Given the description of an element on the screen output the (x, y) to click on. 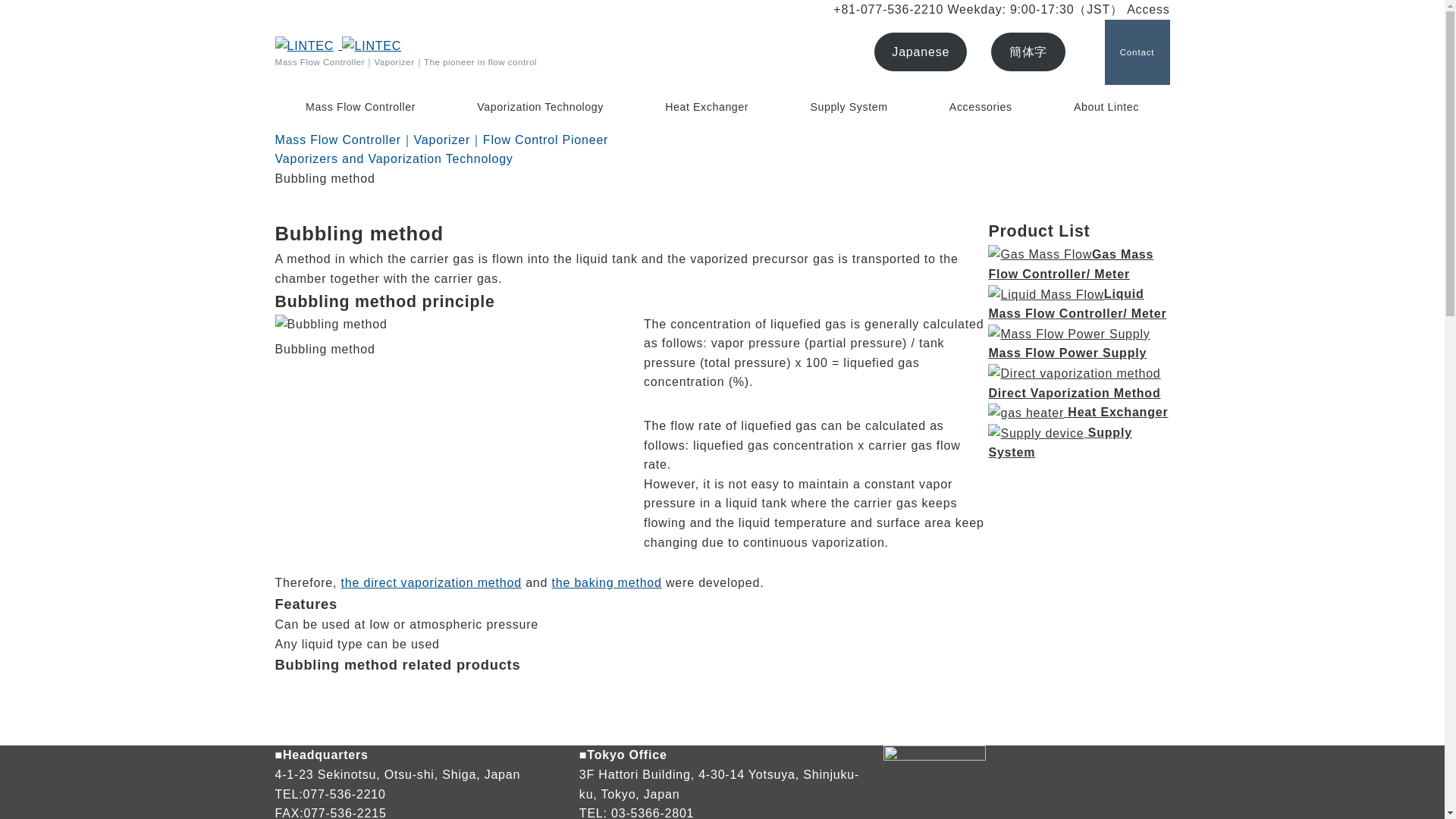
Contact (1136, 52)
Mass Flow Controller (359, 107)
Vaporization Technology (539, 107)
Japanese (920, 51)
Access (1147, 9)
